Given the description of an element on the screen output the (x, y) to click on. 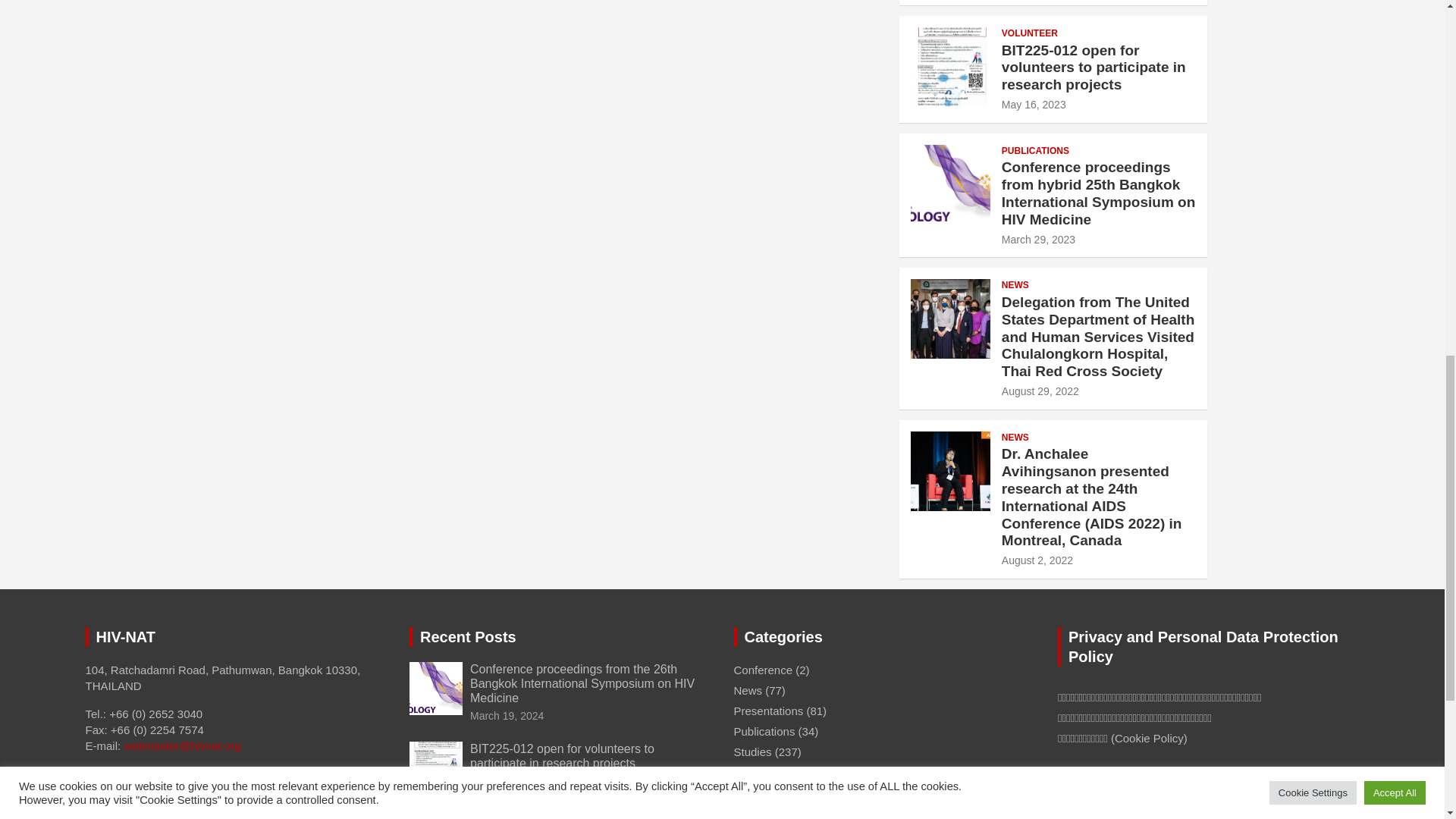
VOLUNTEER (1029, 33)
